Given the description of an element on the screen output the (x, y) to click on. 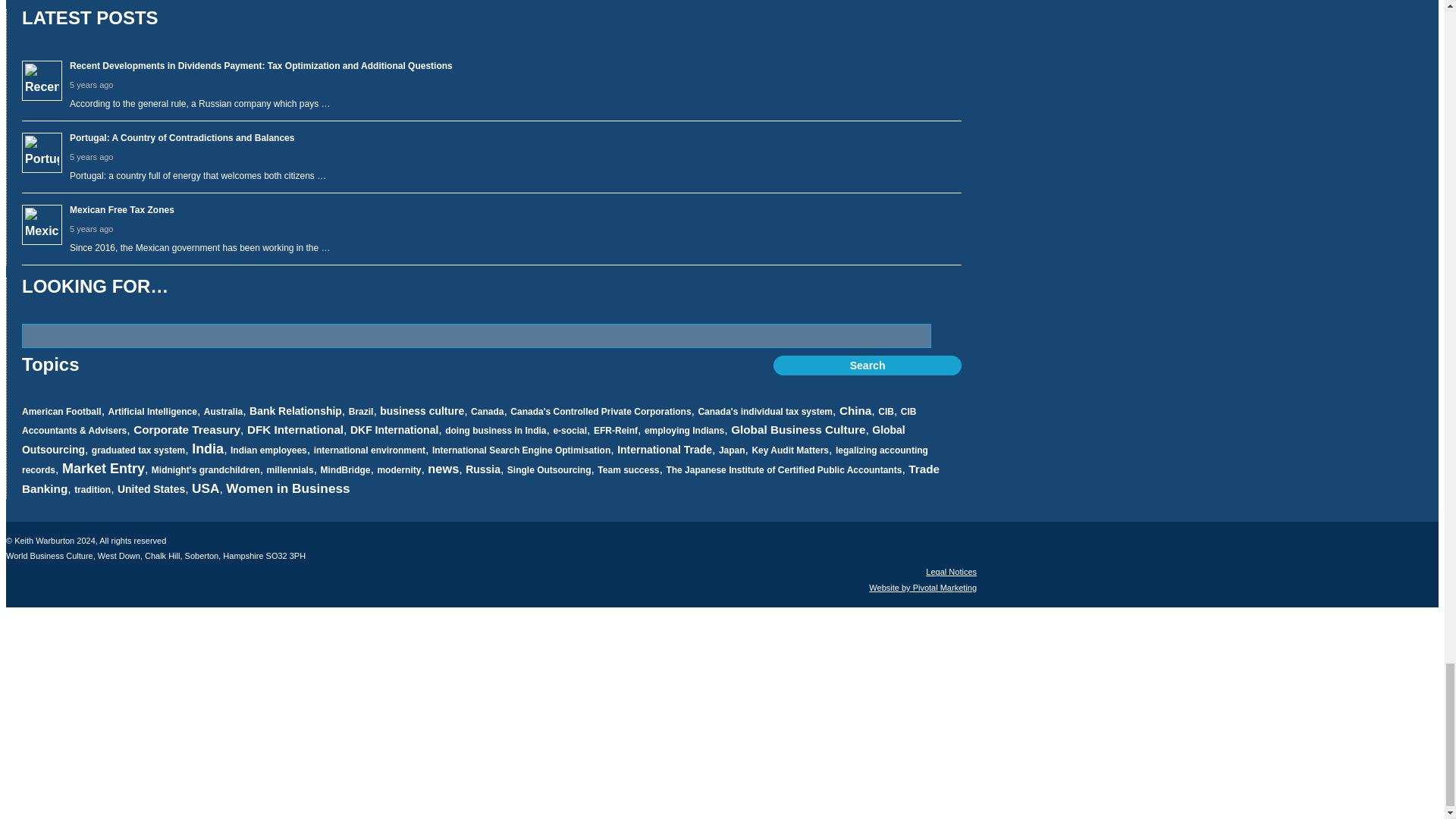
Search (866, 365)
